Given the description of an element on the screen output the (x, y) to click on. 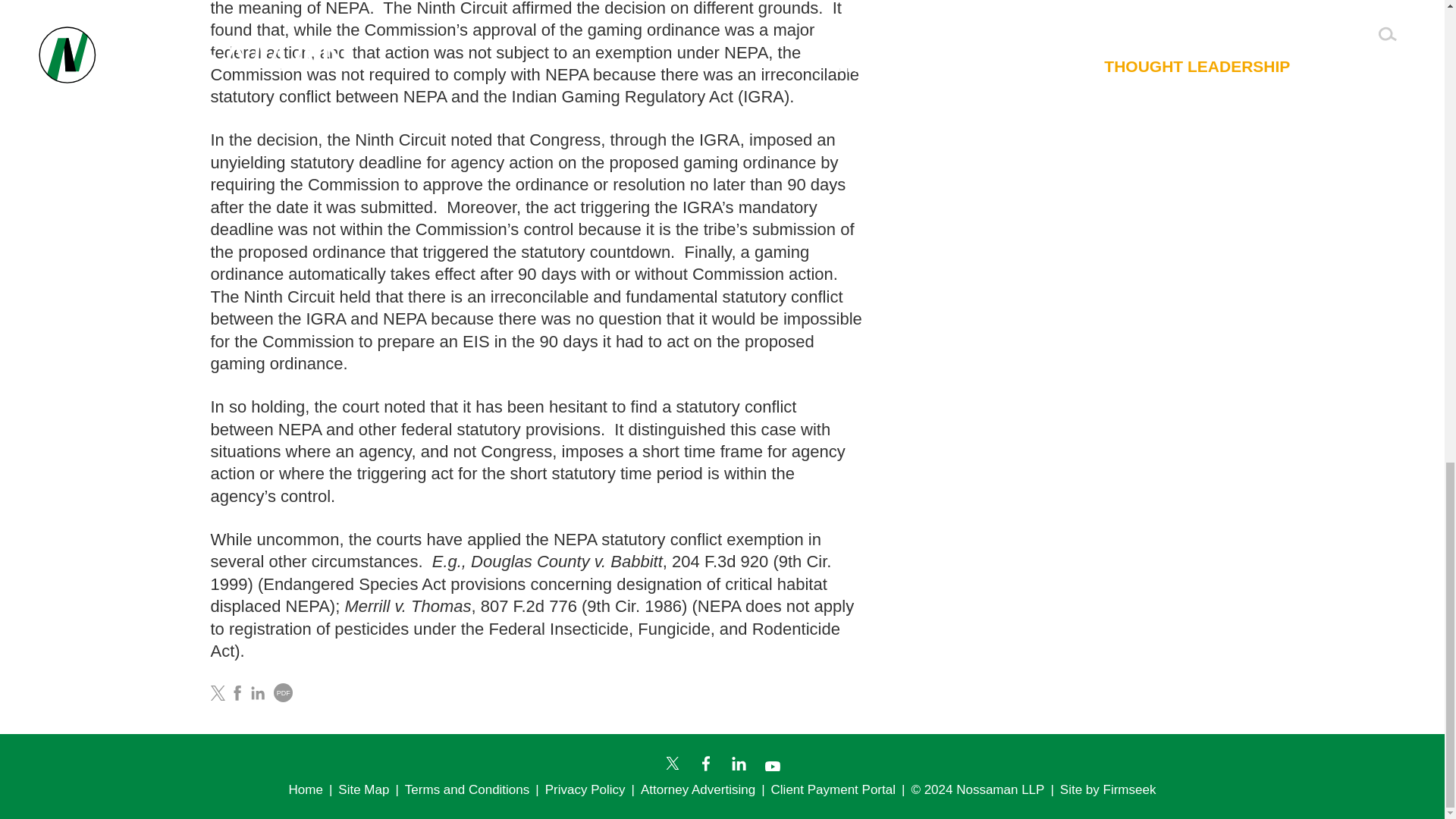
Share on Facebook (237, 693)
PDF (282, 692)
Share on Twitter (218, 693)
Share on LinkedIn (257, 693)
